Given the description of an element on the screen output the (x, y) to click on. 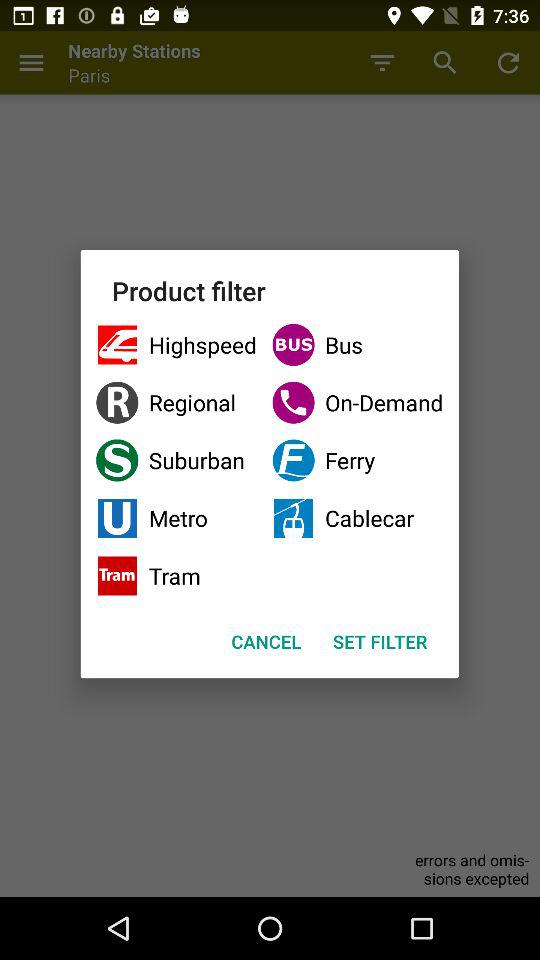
turn on the button next to cancel (380, 641)
